Given the description of an element on the screen output the (x, y) to click on. 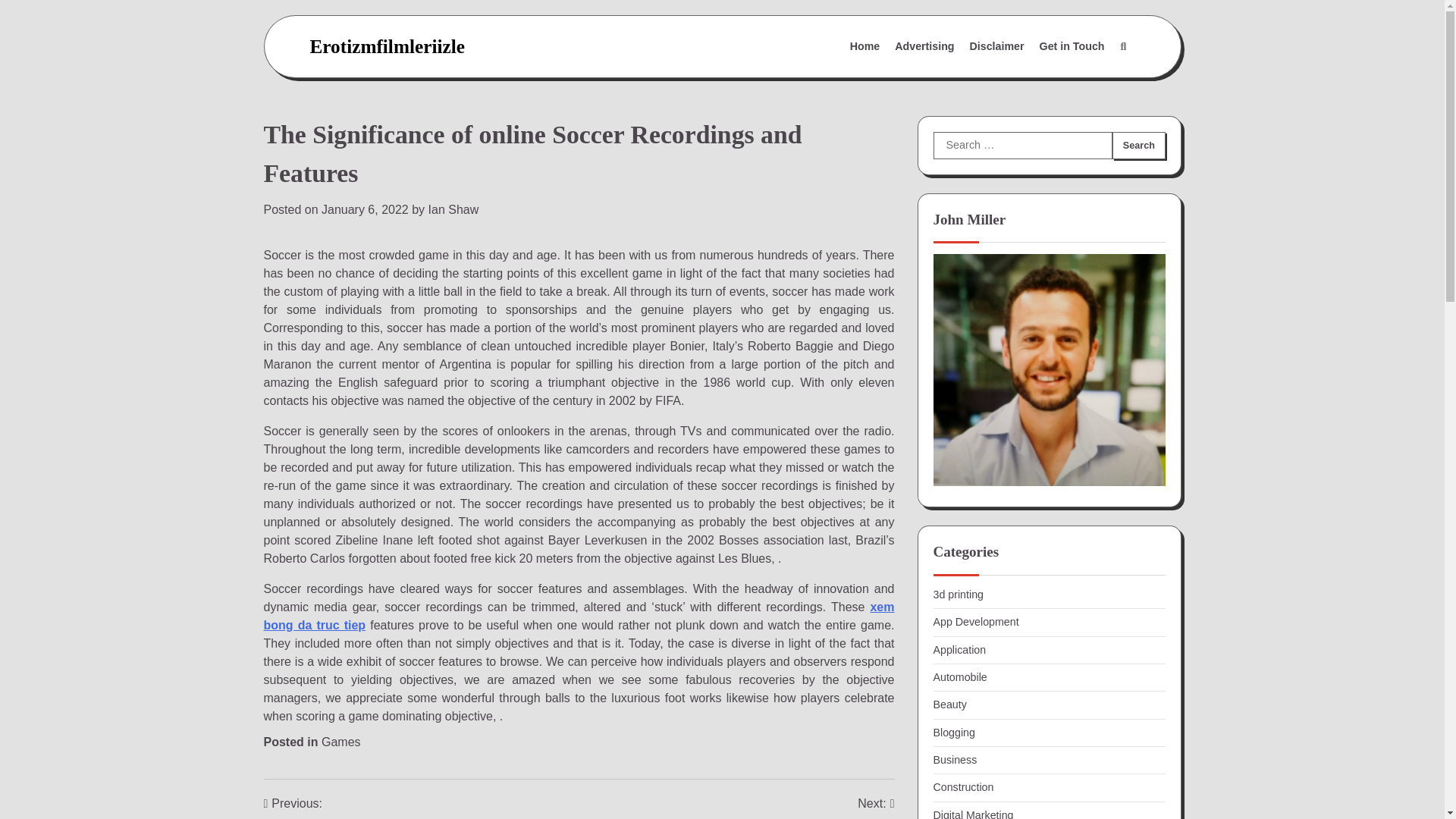
3d printing (957, 594)
Search (1138, 144)
Digital Marketing (973, 814)
Search (1123, 47)
App Development (975, 621)
Search (1138, 144)
Search (1138, 144)
Construction (962, 787)
Automobile (960, 676)
